Given the description of an element on the screen output the (x, y) to click on. 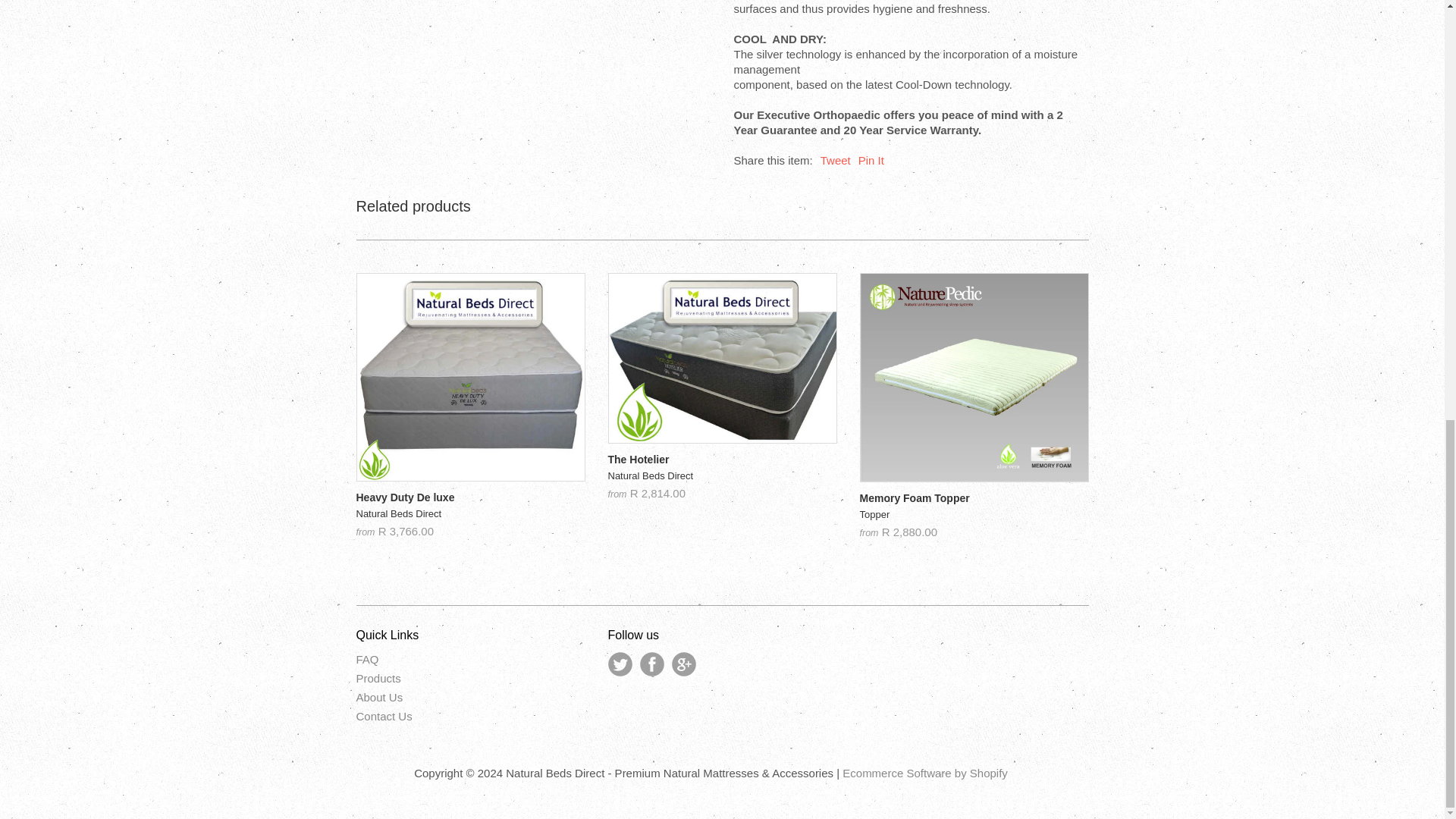
FAQ (367, 658)
Pin It (871, 160)
Products (974, 515)
Twitter (378, 677)
Ecommerce Software by Shopify (619, 663)
Tweet (925, 772)
Contact Us (722, 476)
About Us (835, 160)
Facebook (384, 716)
About Us (379, 697)
FAQ (651, 663)
Products (470, 514)
